Given the description of an element on the screen output the (x, y) to click on. 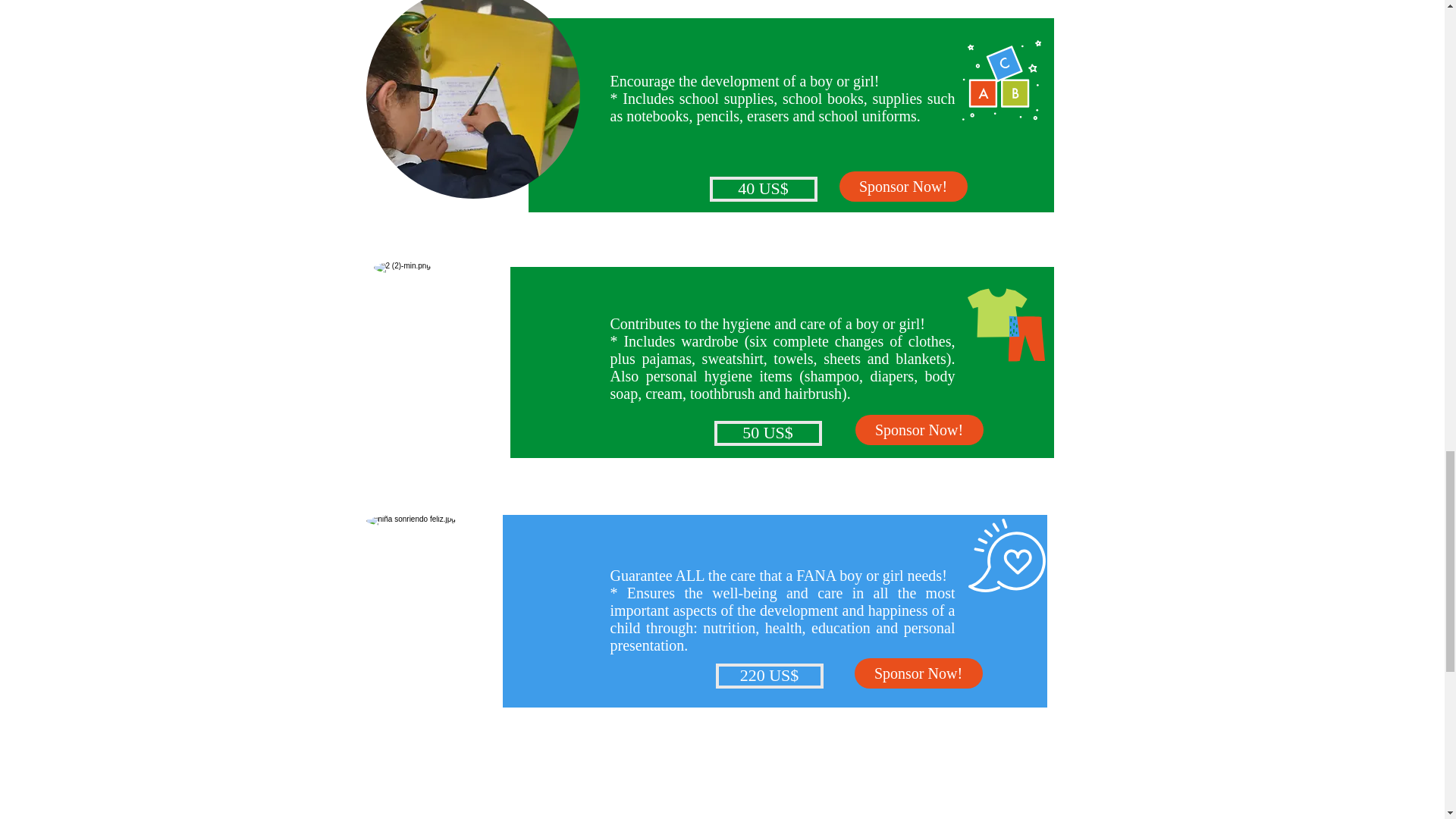
Sponsor Now! (902, 186)
Sponsor Now! (917, 673)
Sponsor Now! (920, 429)
